Given the description of an element on the screen output the (x, y) to click on. 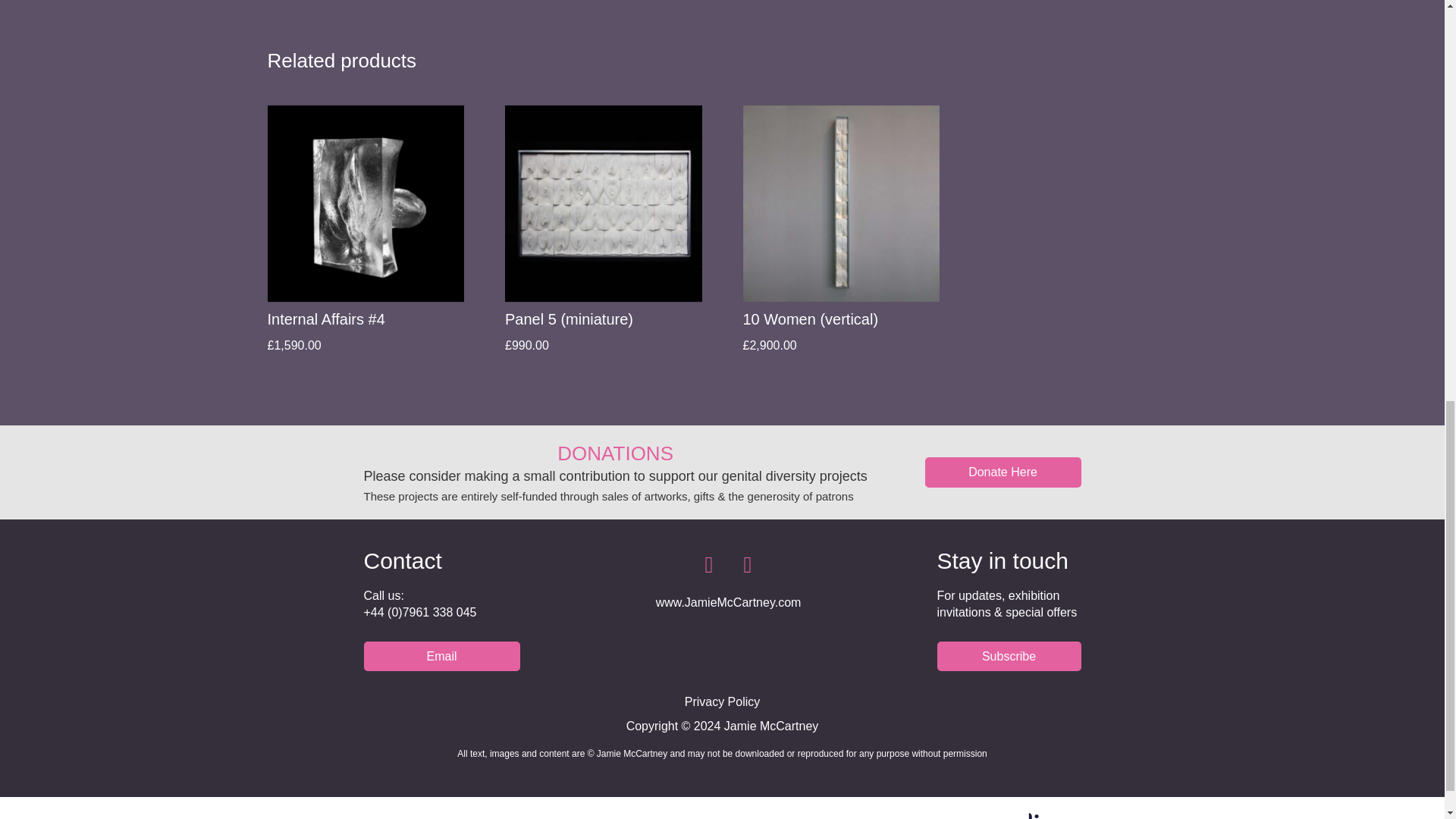
Donate Here (1002, 472)
Email (441, 656)
